Given the description of an element on the screen output the (x, y) to click on. 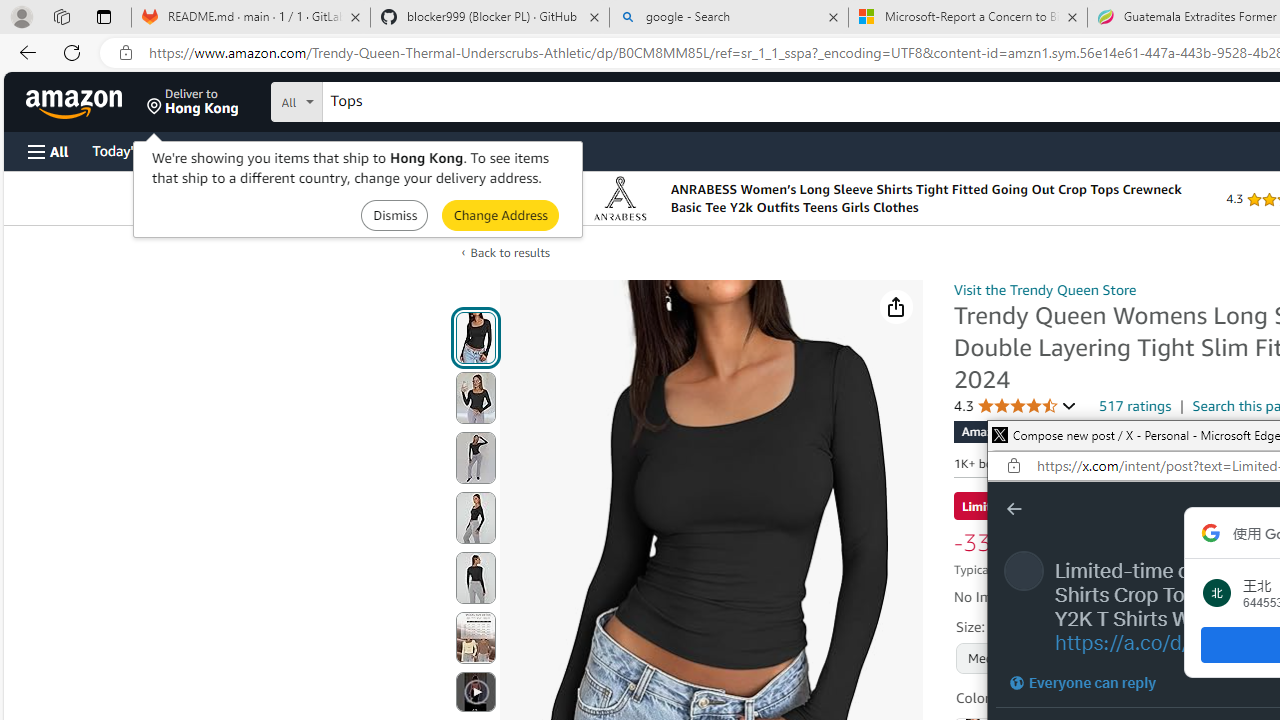
Amazon (76, 101)
